Given the description of an element on the screen output the (x, y) to click on. 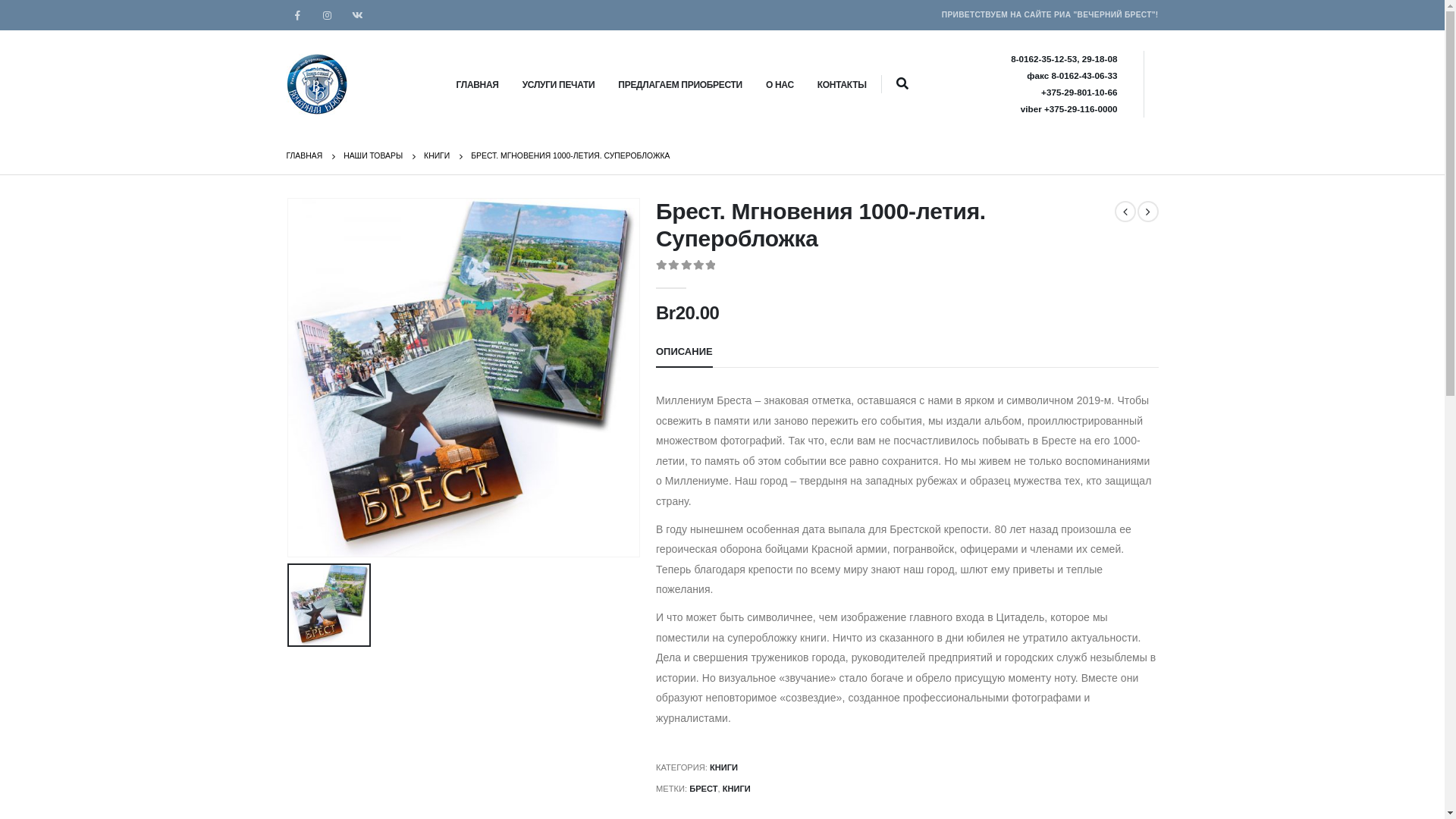
Facebook Element type: hover (297, 14)
VK Element type: hover (356, 14)
Instagram Element type: hover (327, 14)
